Given the description of an element on the screen output the (x, y) to click on. 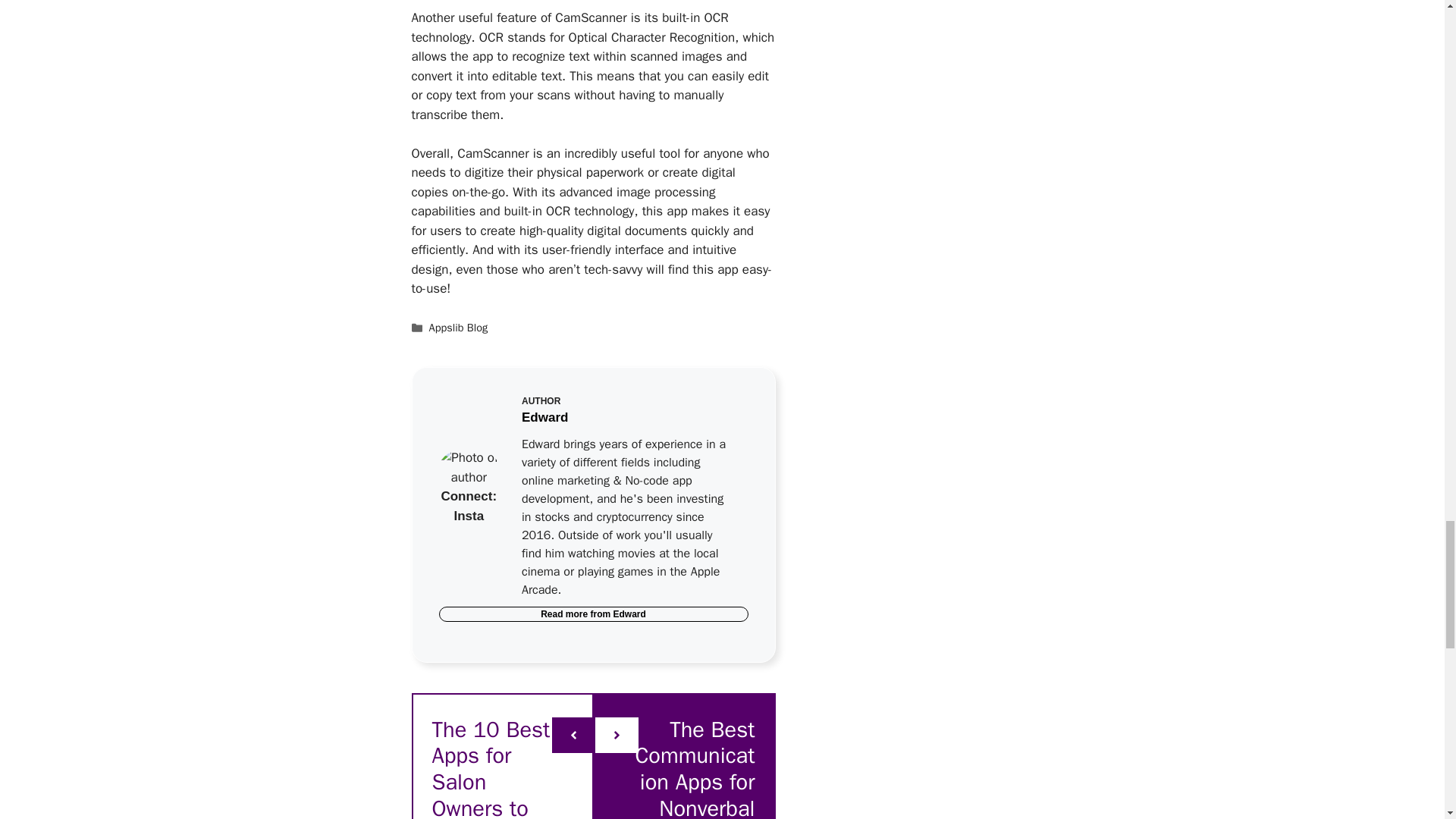
Edward (628, 614)
Edward (544, 417)
Insta (467, 515)
Appslib Blog (458, 327)
